Given the description of an element on the screen output the (x, y) to click on. 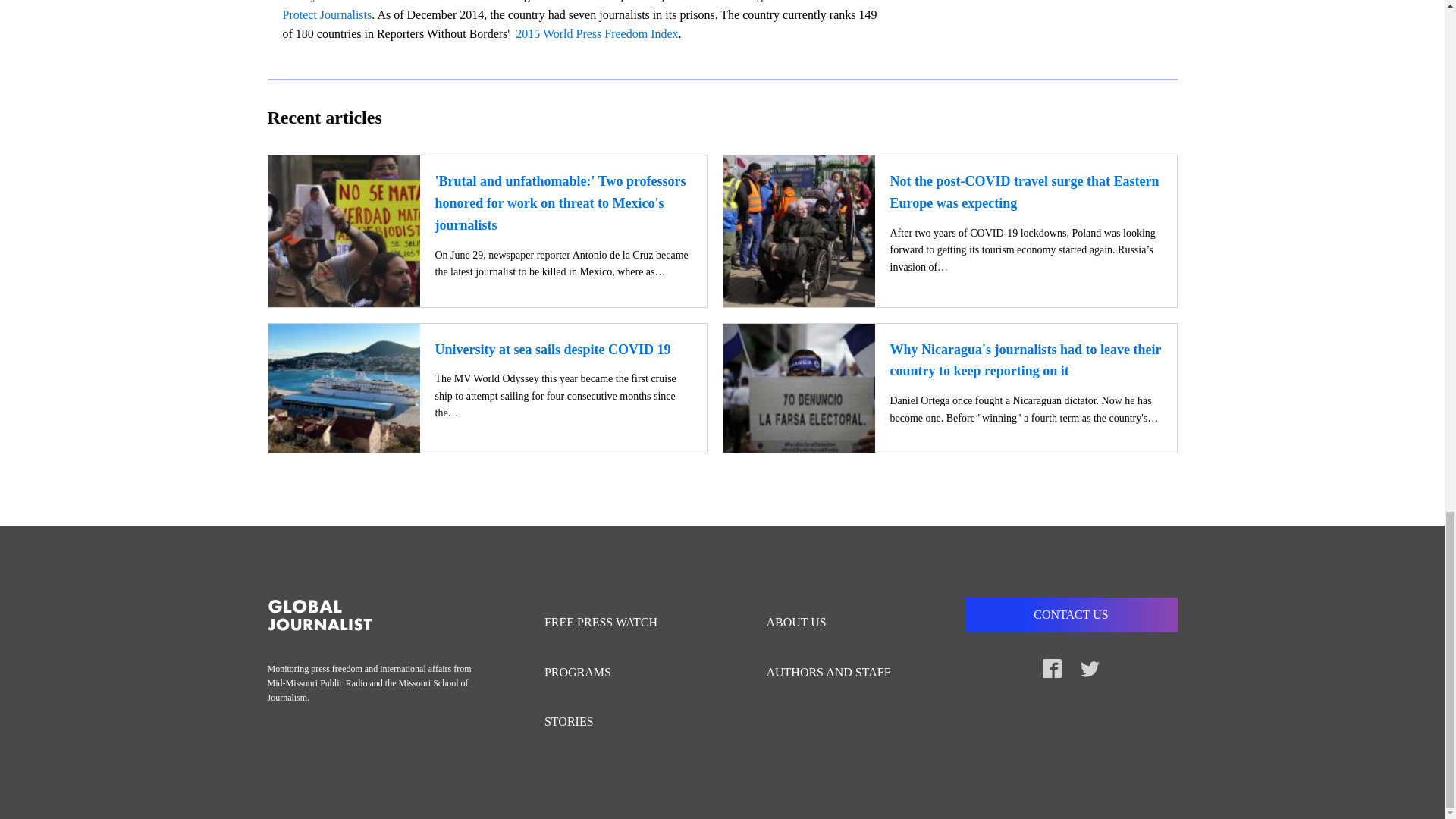
ABOUT US (835, 622)
University at sea sails despite COVID 19 (553, 349)
2015 World Press Freedom Index (596, 33)
CONTACT US (1069, 614)
STORIES (608, 721)
AUTHORS AND STAFF (835, 672)
Committee to Protect Journalists (571, 10)
FREE PRESS WATCH (608, 622)
PROGRAMS (608, 672)
